Given the description of an element on the screen output the (x, y) to click on. 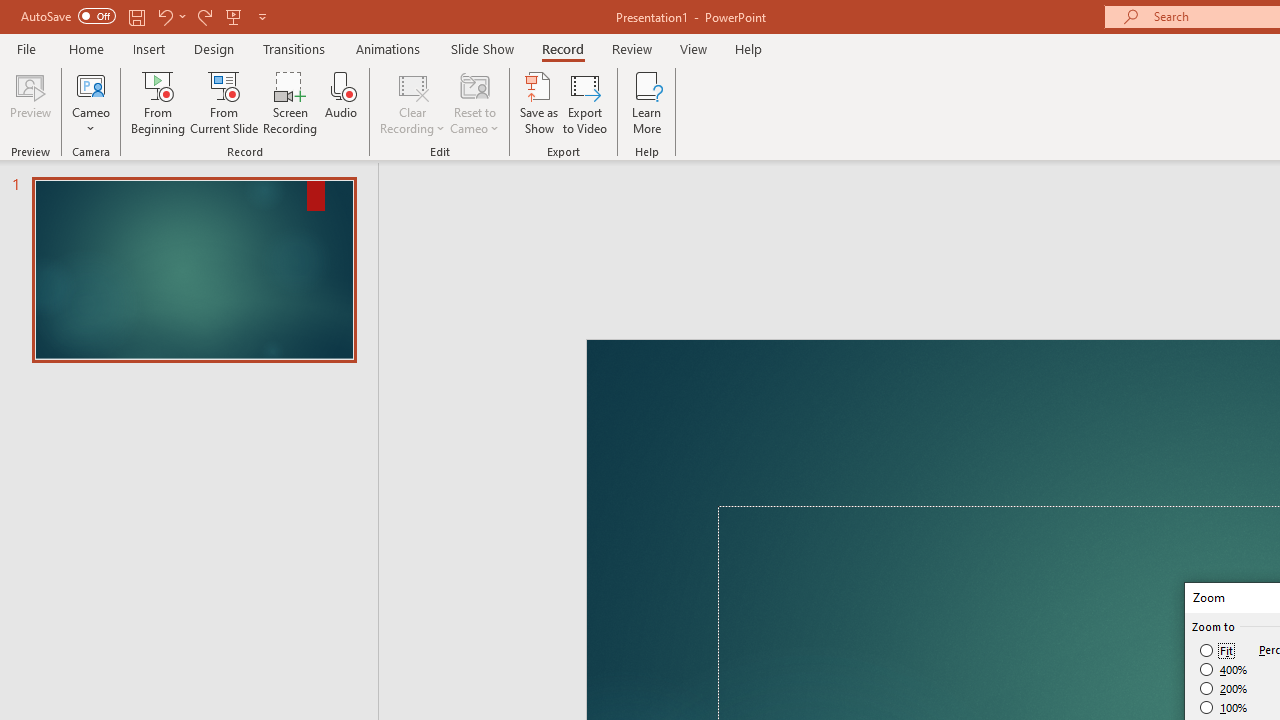
Save as Show (539, 102)
From Current Slide... (224, 102)
Export to Video (585, 102)
Screen Recording (290, 102)
From Beginning... (158, 102)
